Given the description of an element on the screen output the (x, y) to click on. 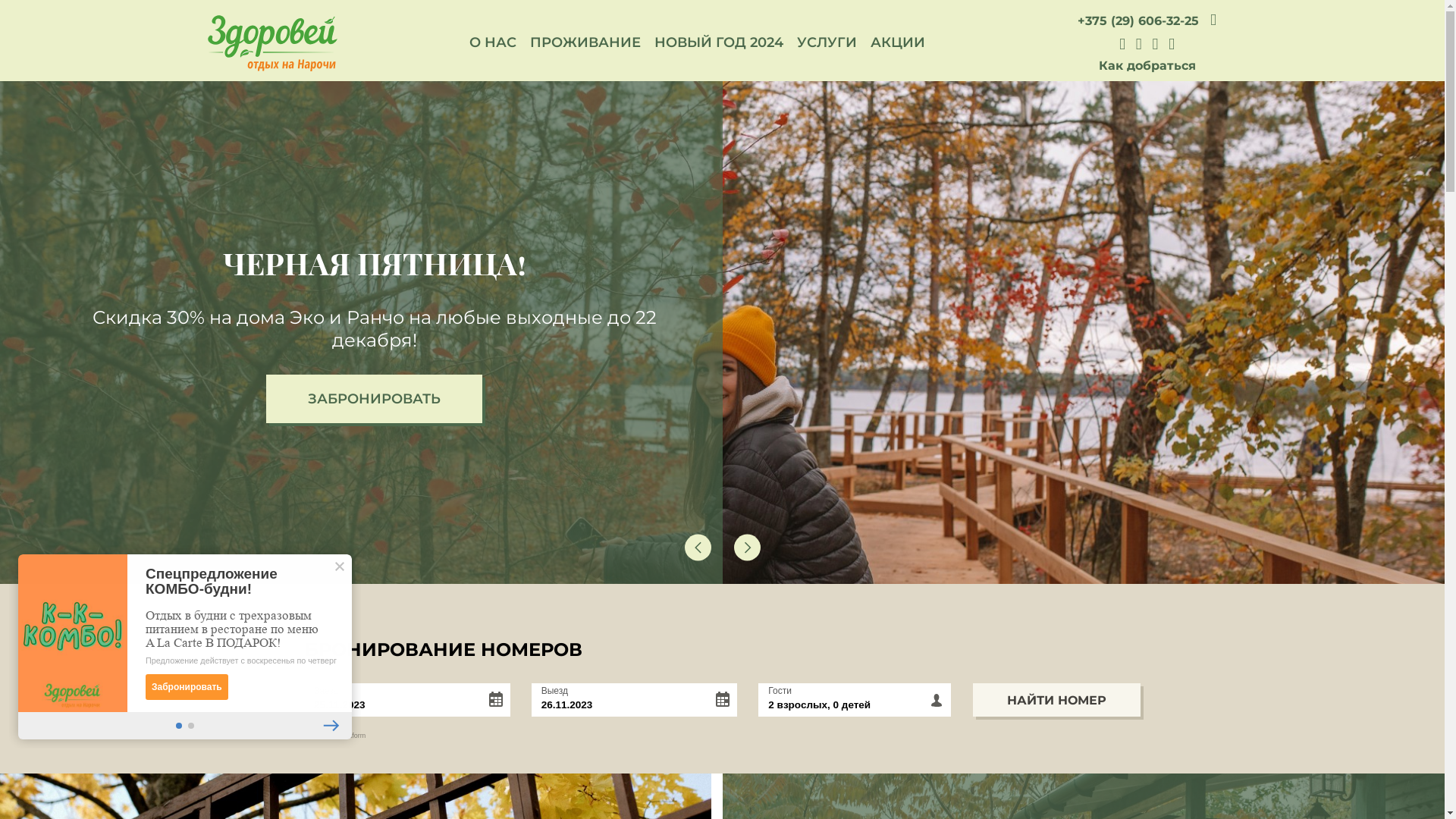
+375 (29) 606-32-25 Element type: text (1137, 20)
Previous Element type: text (697, 547)
Next Element type: text (747, 547)
